Given the description of an element on the screen output the (x, y) to click on. 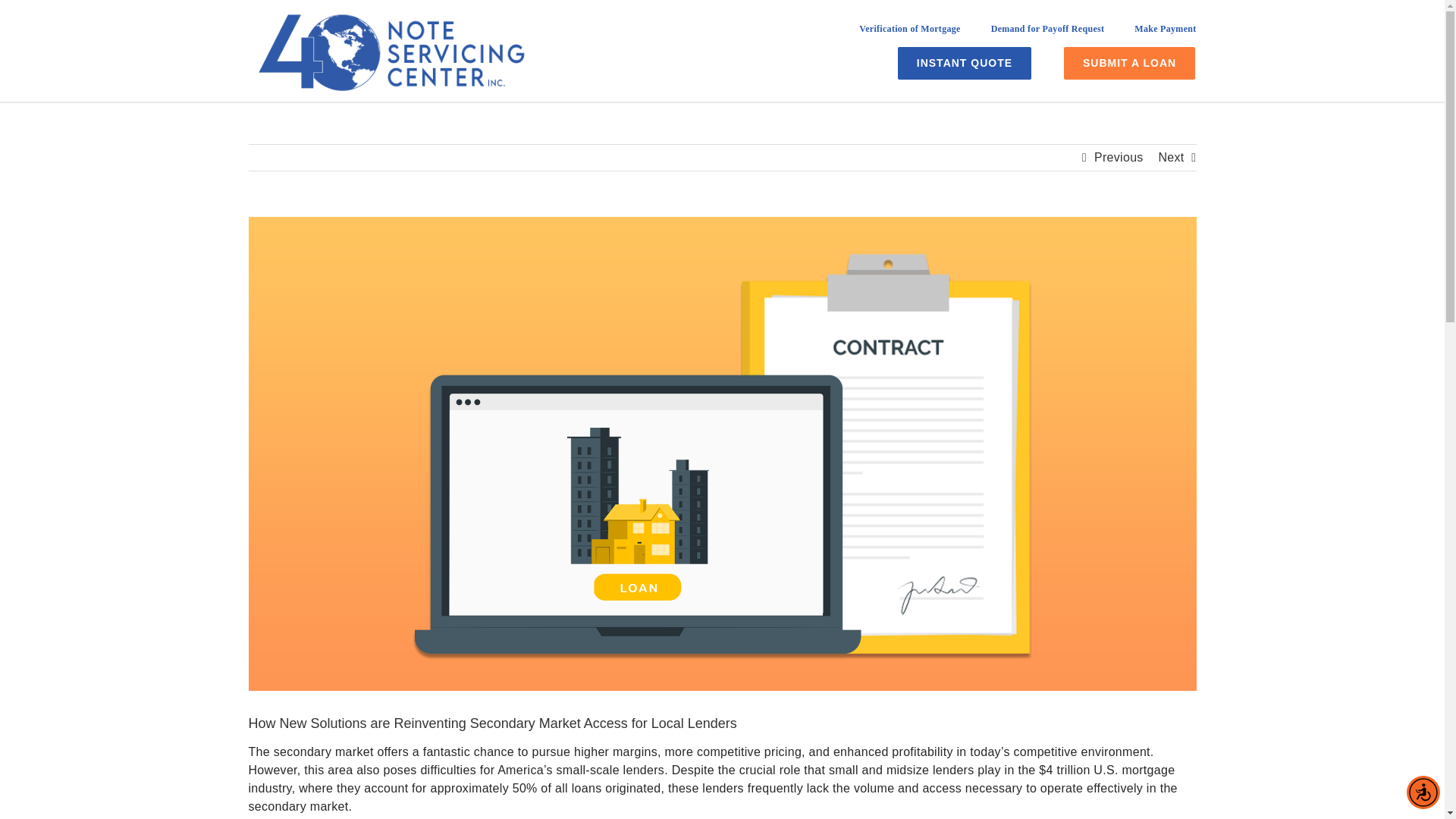
Accessibility Menu (1422, 792)
INSTANT QUOTE (964, 62)
Previous (1118, 157)
Demand for Payoff Request (1048, 34)
Verification of Mortgage (909, 34)
Next (1170, 157)
SUBMIT A LOAN (1129, 62)
Make Payment (1164, 34)
